Given the description of an element on the screen output the (x, y) to click on. 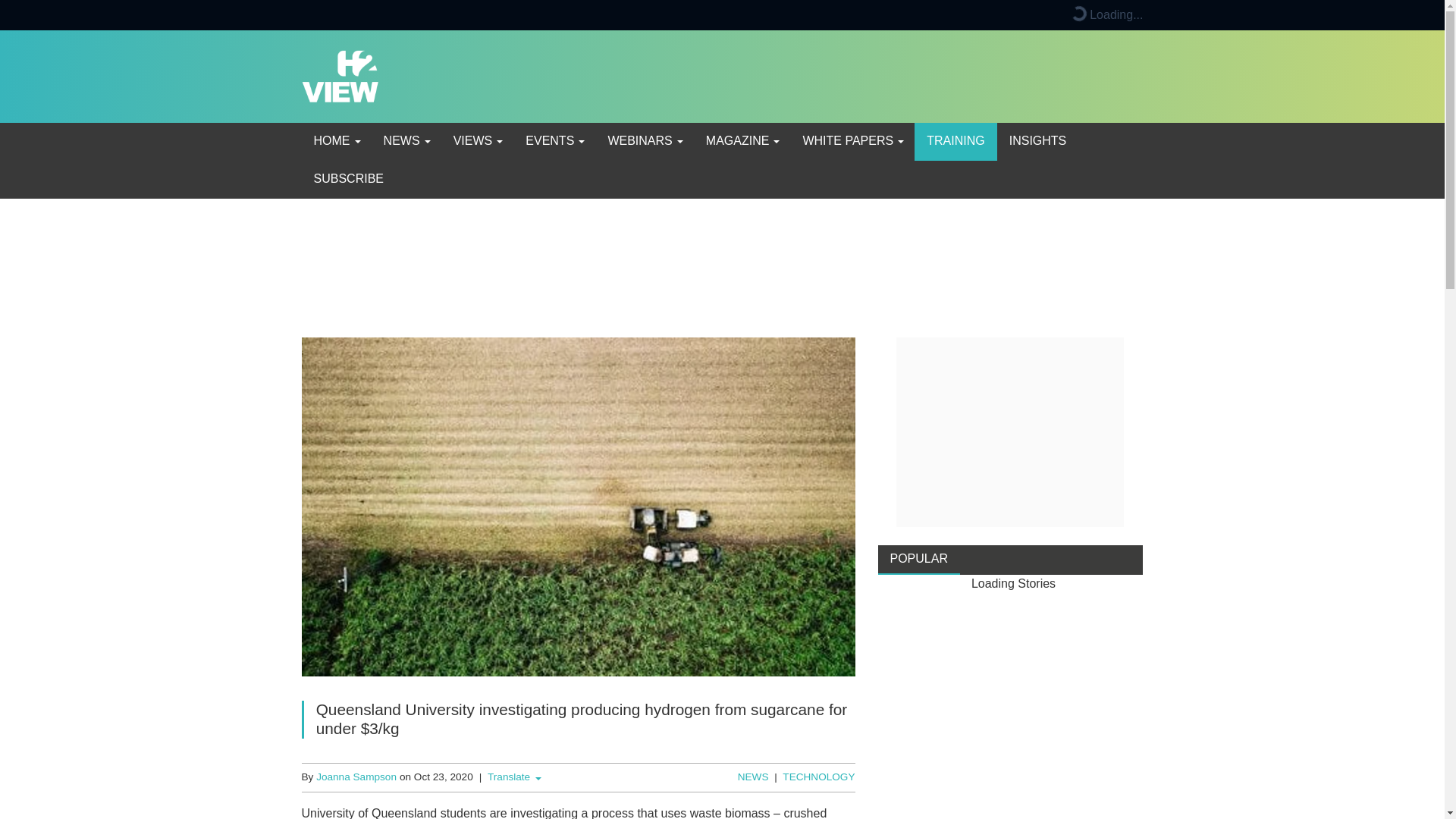
Home (336, 140)
News (406, 140)
NEWS (406, 140)
HOME (336, 140)
VIEWS (477, 140)
H2 View (339, 74)
